Given the description of an element on the screen output the (x, y) to click on. 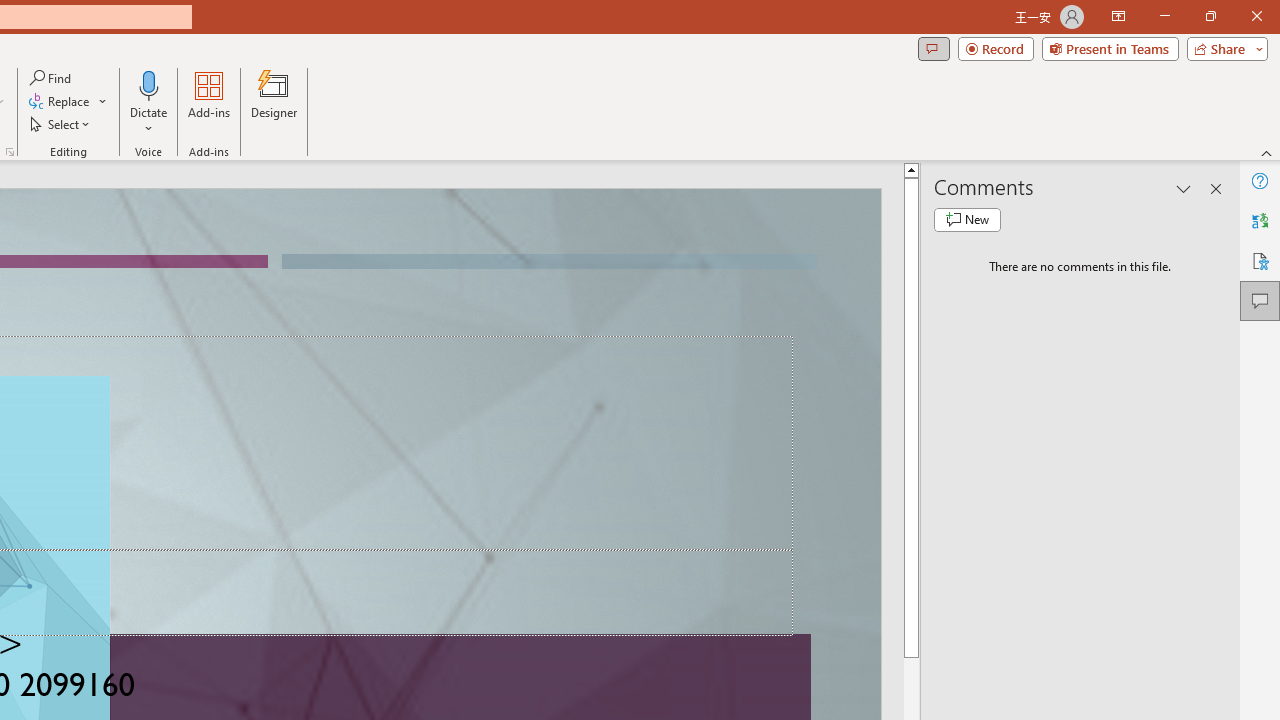
New comment (967, 219)
